Given the description of an element on the screen output the (x, y) to click on. 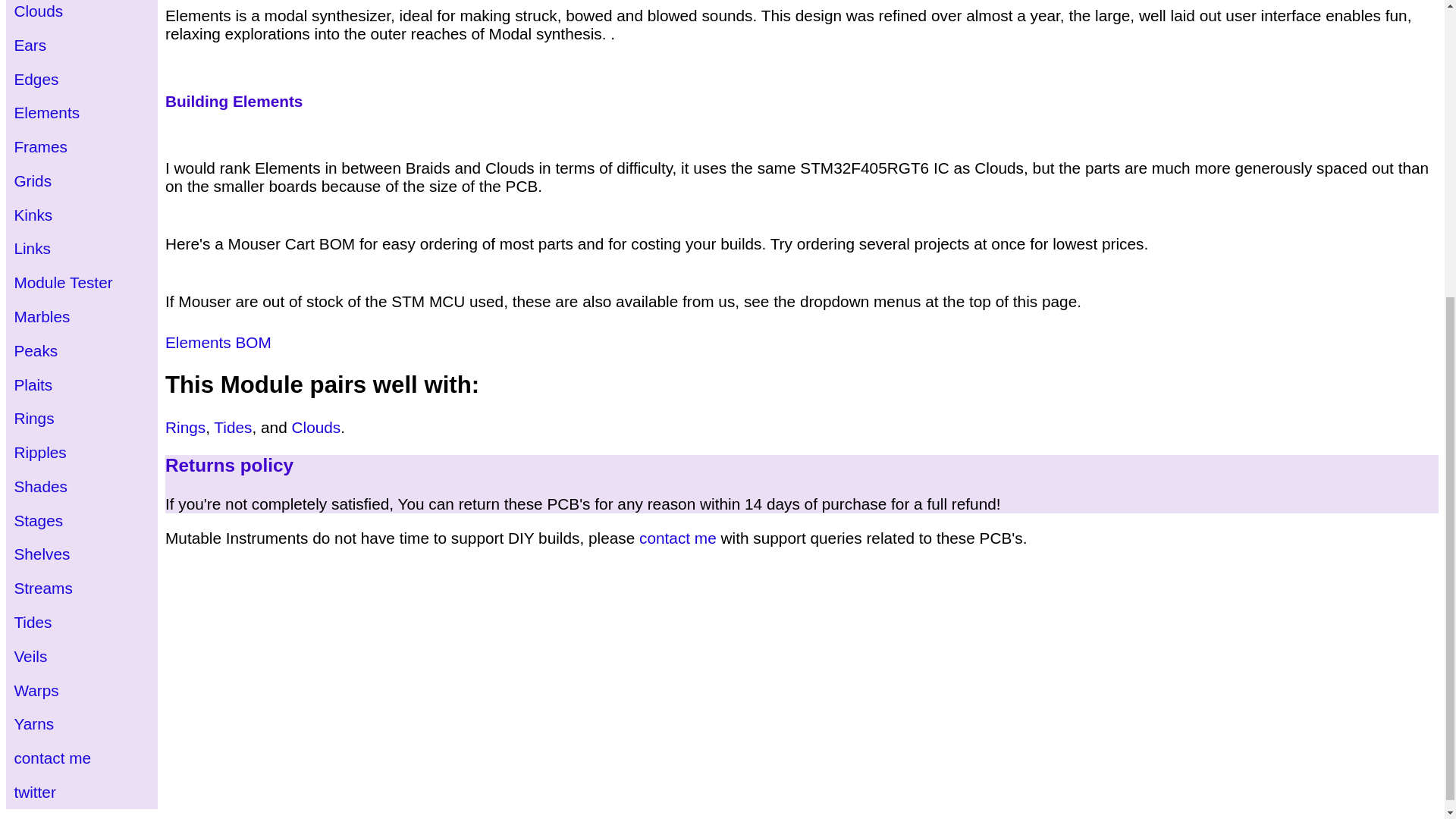
Elements (46, 112)
Edges (35, 78)
contact me (677, 538)
Ears (29, 45)
Yarns (33, 723)
Shelves (41, 553)
Clouds (37, 10)
Module Tester (62, 282)
Plaits (32, 384)
Streams (42, 588)
Tides (31, 621)
Grids (31, 180)
Rings (185, 426)
Kinks (32, 214)
Tides (232, 426)
